Given the description of an element on the screen output the (x, y) to click on. 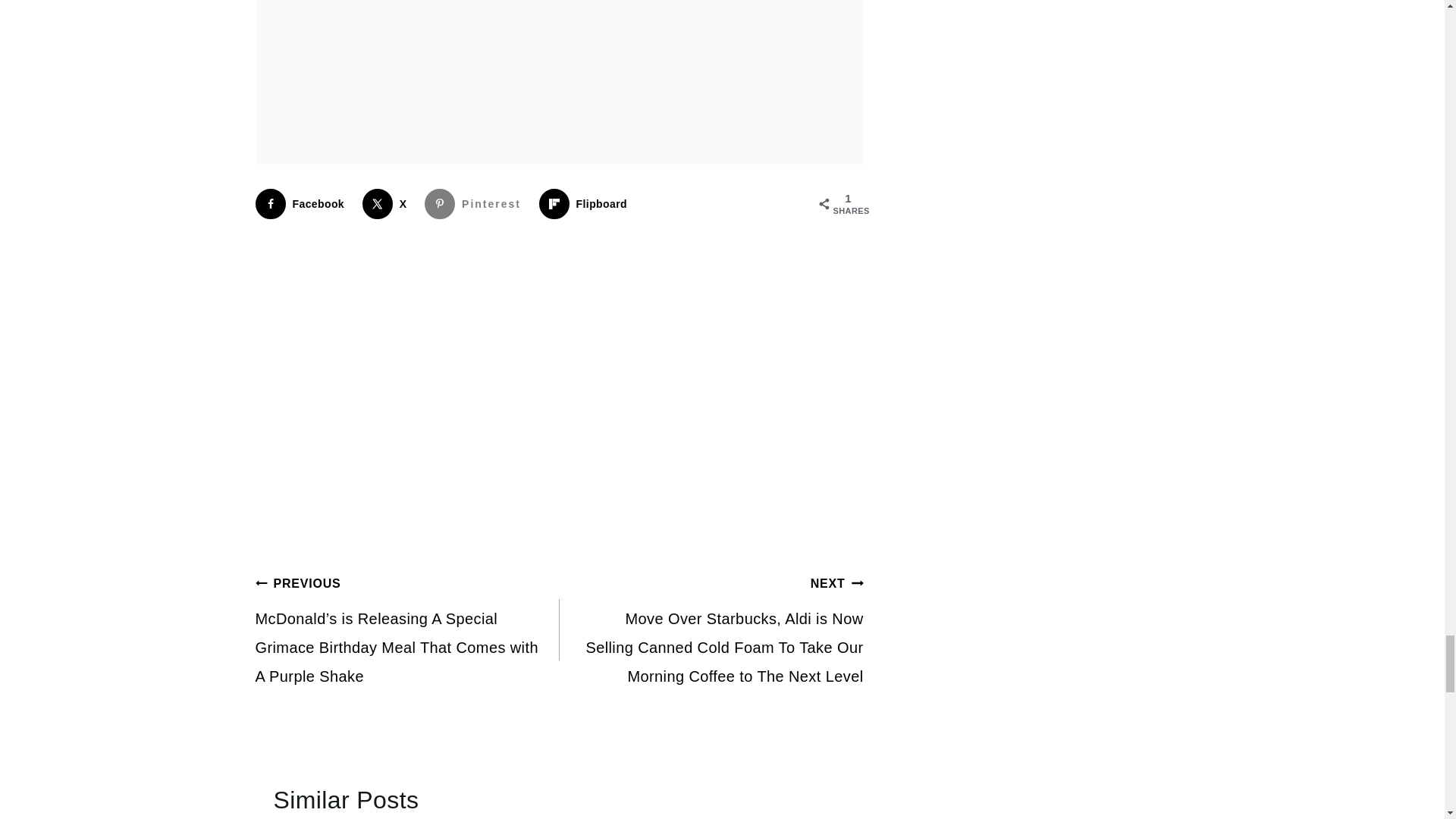
Share on X (387, 204)
Share on Facebook (302, 204)
Save to Pinterest (476, 204)
Share on Flipboard (585, 204)
